Given the description of an element on the screen output the (x, y) to click on. 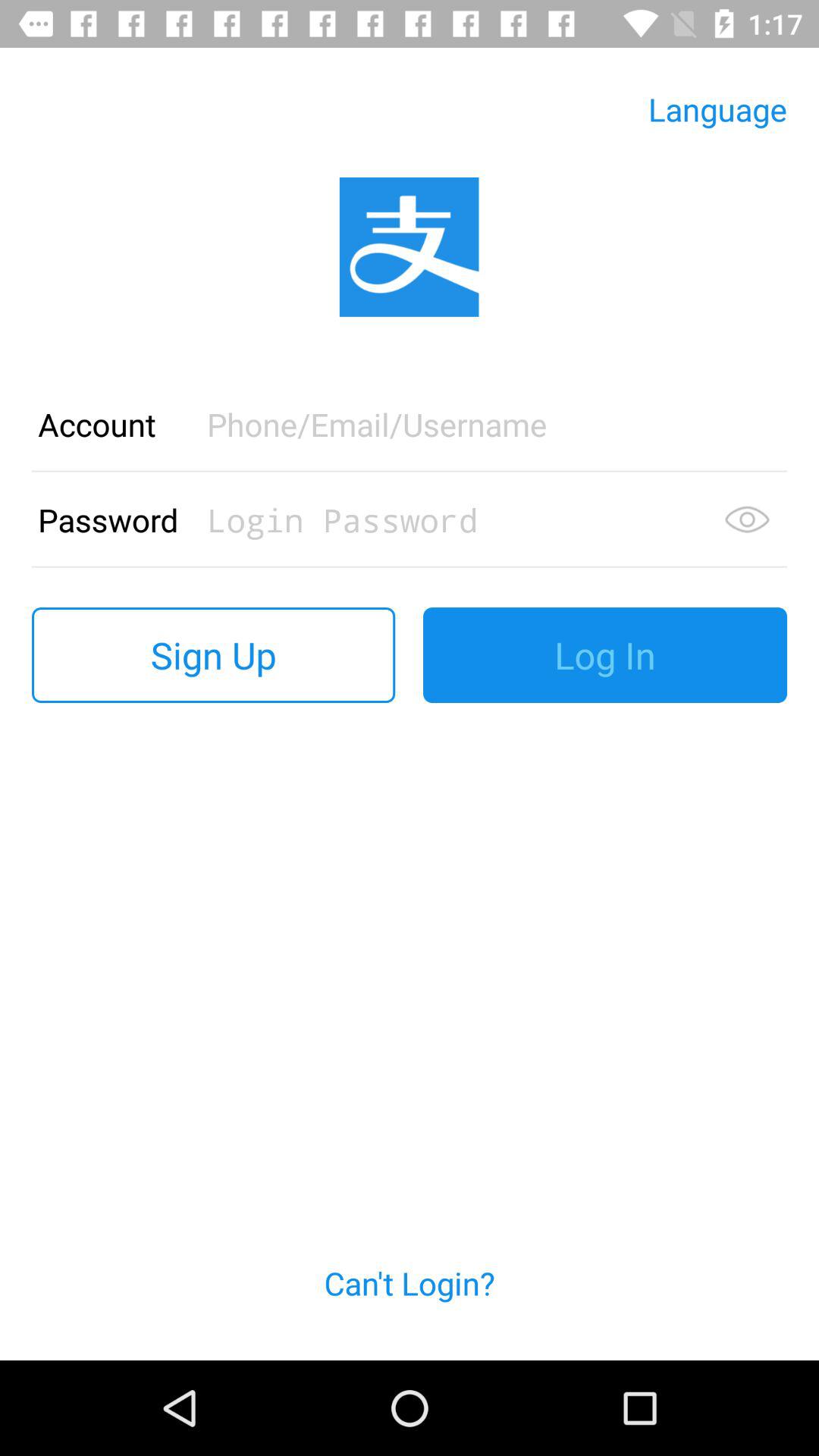
tap the item above the log in icon (746, 519)
